Given the description of an element on the screen output the (x, y) to click on. 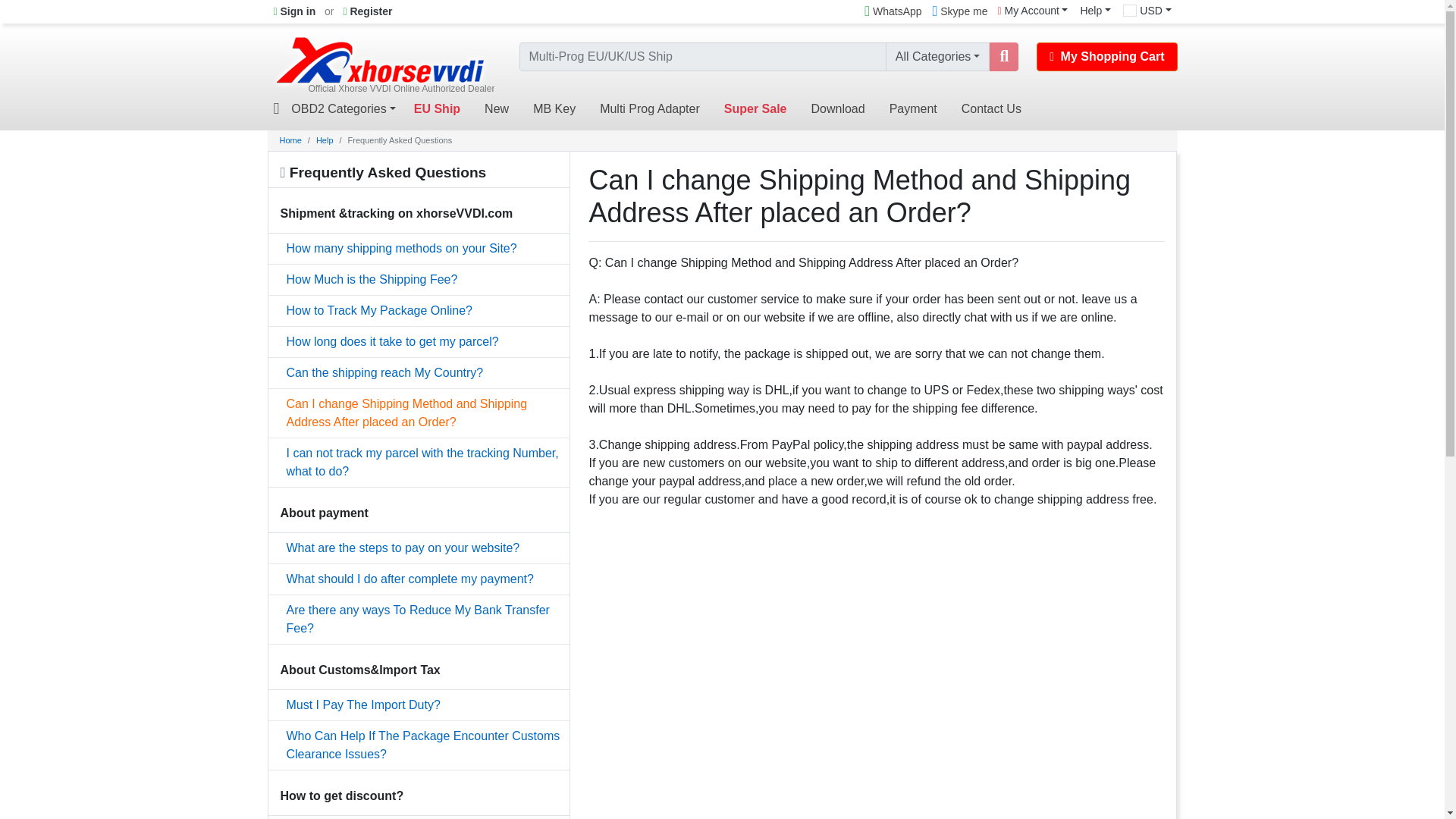
Official Xhorse VVDI Online Authorized Dealer (380, 60)
Register (366, 11)
Skype me (959, 11)
Help (1095, 11)
My Shopping Cart (1106, 56)
My Account (1032, 11)
OBD2 Categories (343, 109)
Skype:xhorsevvdi.com (959, 11)
All Categories (937, 56)
USD (1146, 11)
Sign in (293, 11)
WhatsApp (892, 11)
